Given the description of an element on the screen output the (x, y) to click on. 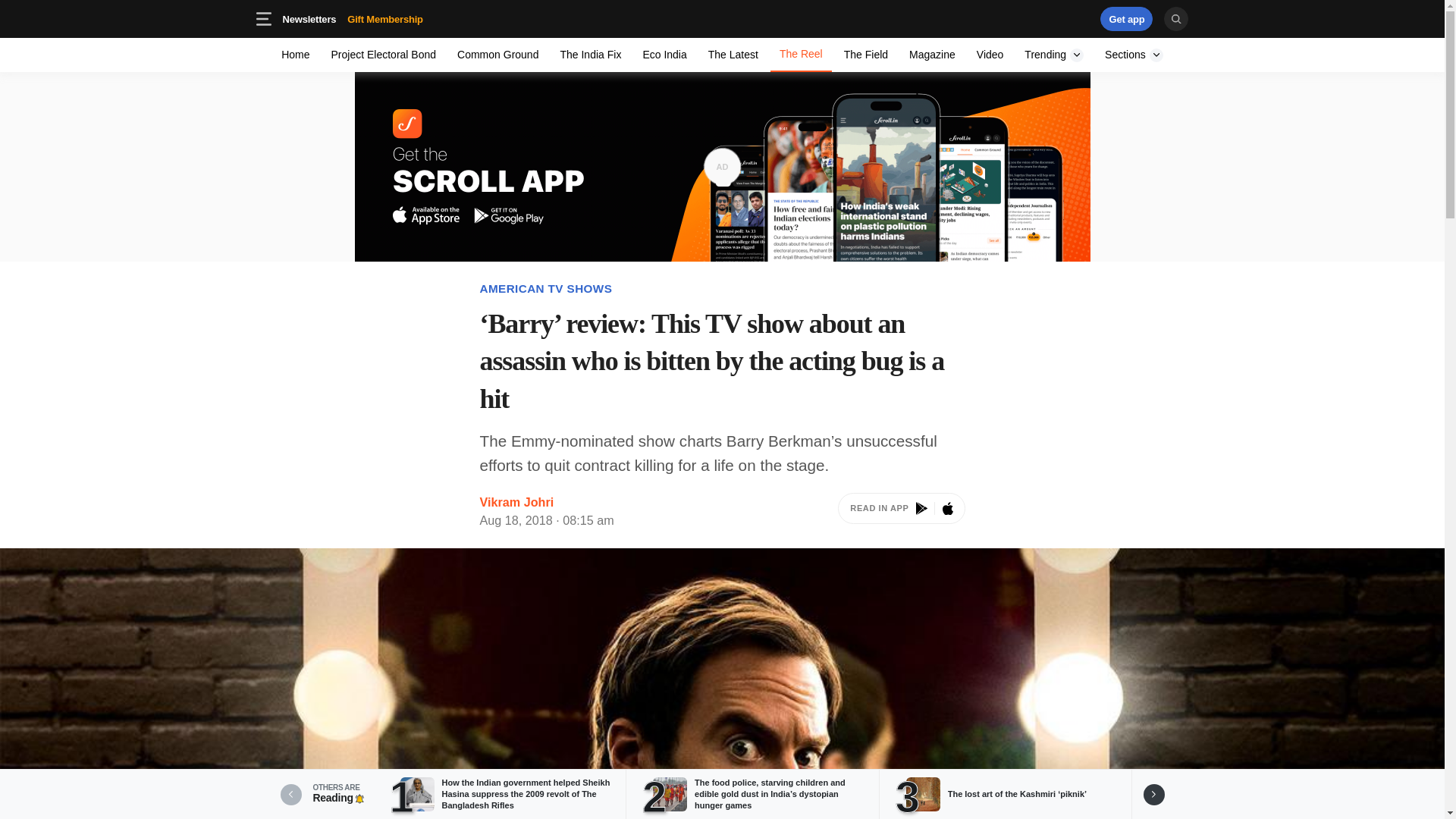
Get app (409, 18)
Get app (1126, 18)
Eco India (1126, 18)
The Field (664, 54)
Sections (865, 54)
3rd party ad content (1134, 54)
Common Ground (295, 54)
Trending (497, 54)
Video (1053, 54)
Get app (990, 54)
Trending (1035, 18)
Magazine (352, 18)
